Given the description of an element on the screen output the (x, y) to click on. 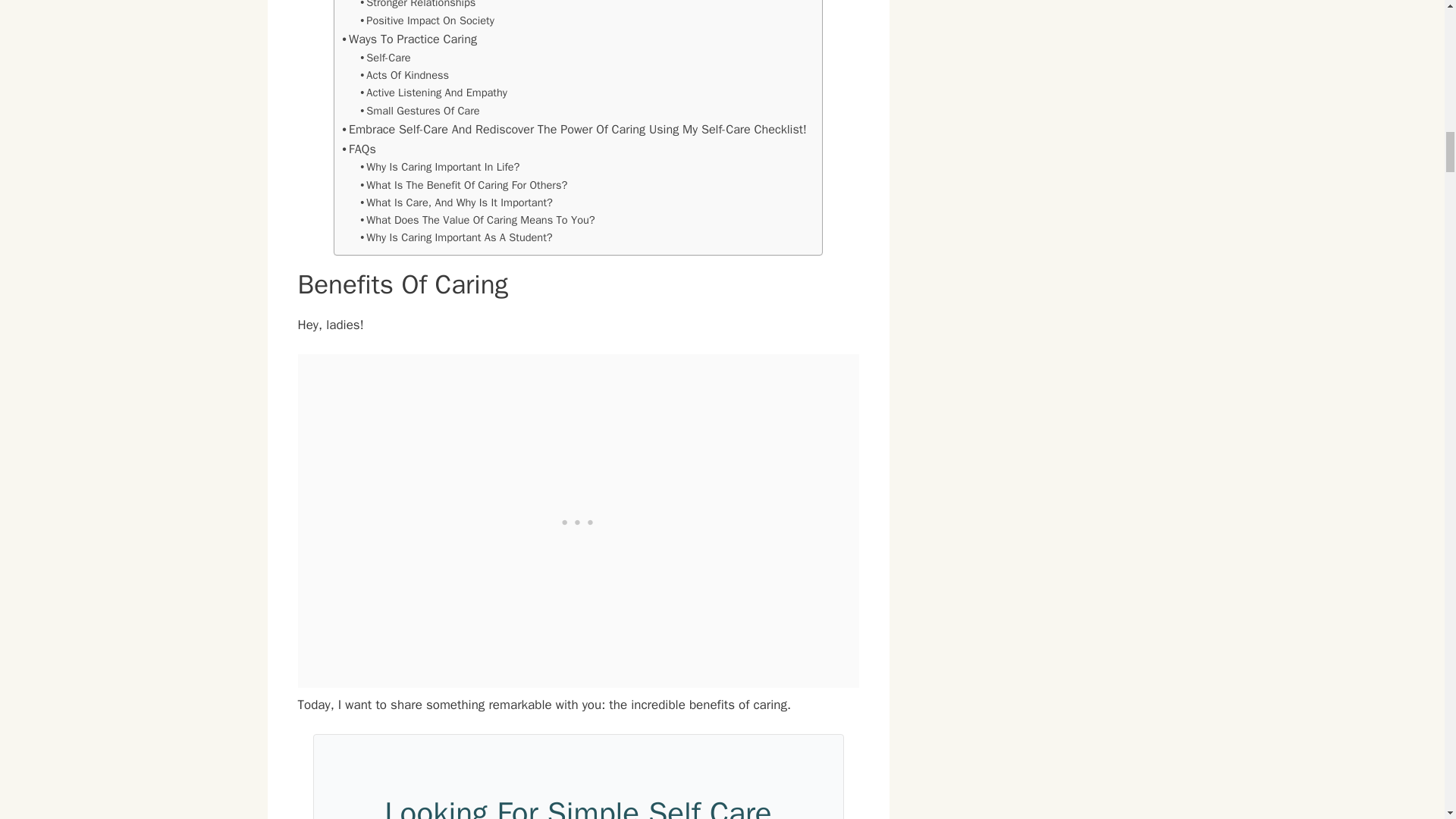
Acts Of Kindness (403, 75)
Positive Impact On Society (426, 20)
Why Is Caring Important In Life? (439, 167)
Ways To Practice Caring (409, 39)
Stronger Relationships (417, 5)
Self-Care (384, 57)
Ways To Practice Caring (409, 39)
Small Gestures Of Care (419, 110)
FAQs (358, 148)
Active Listening And Empathy (432, 92)
